Given the description of an element on the screen output the (x, y) to click on. 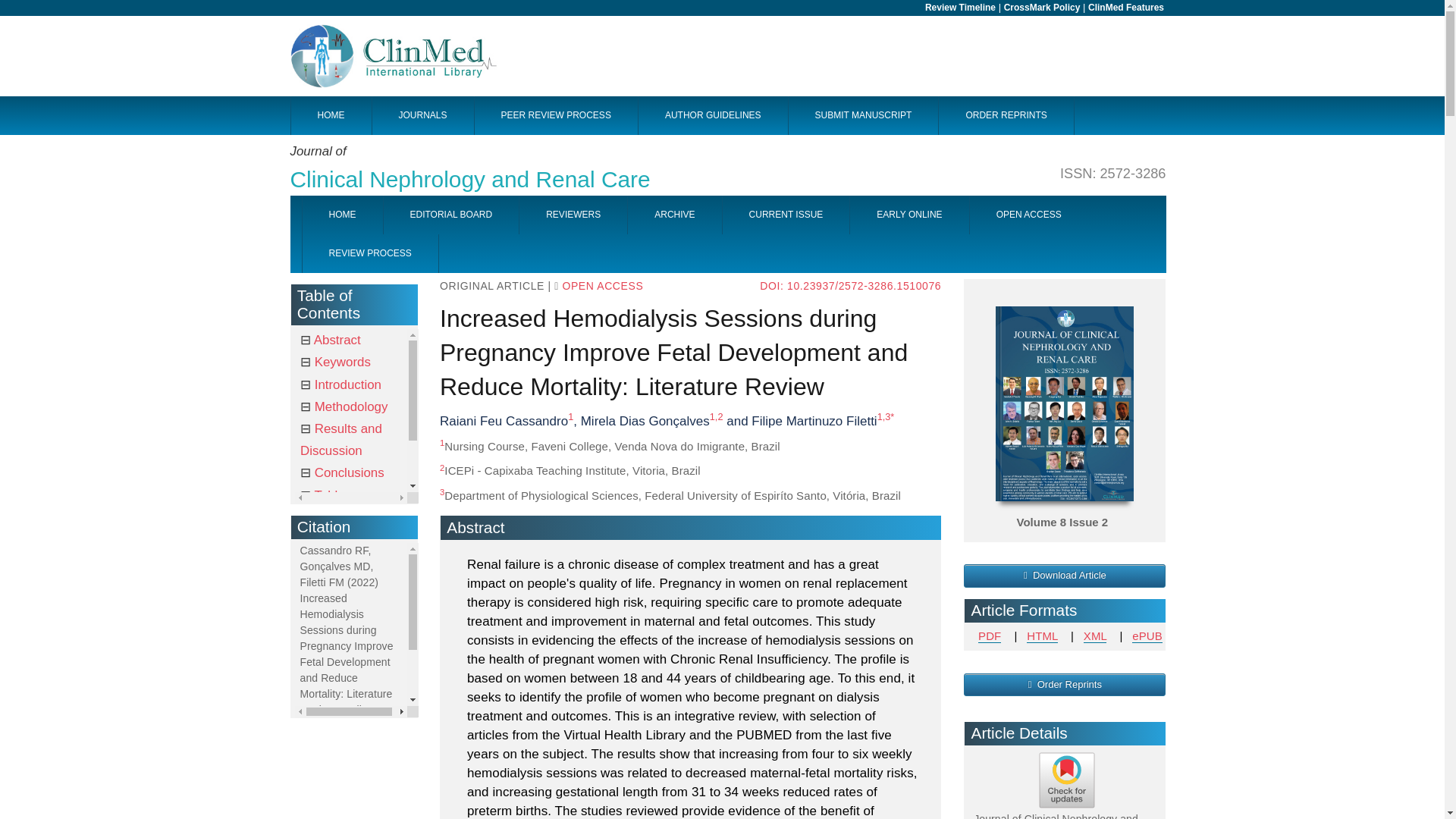
References (339, 517)
REVIEWERS (572, 214)
JOURNALS (422, 115)
CrossMark Policy (1042, 7)
ORDER REPRINTS (1005, 115)
Introduction (340, 384)
Methodology (343, 406)
Abstract (330, 339)
Review Timeline (959, 7)
Keywords (335, 361)
